Given the description of an element on the screen output the (x, y) to click on. 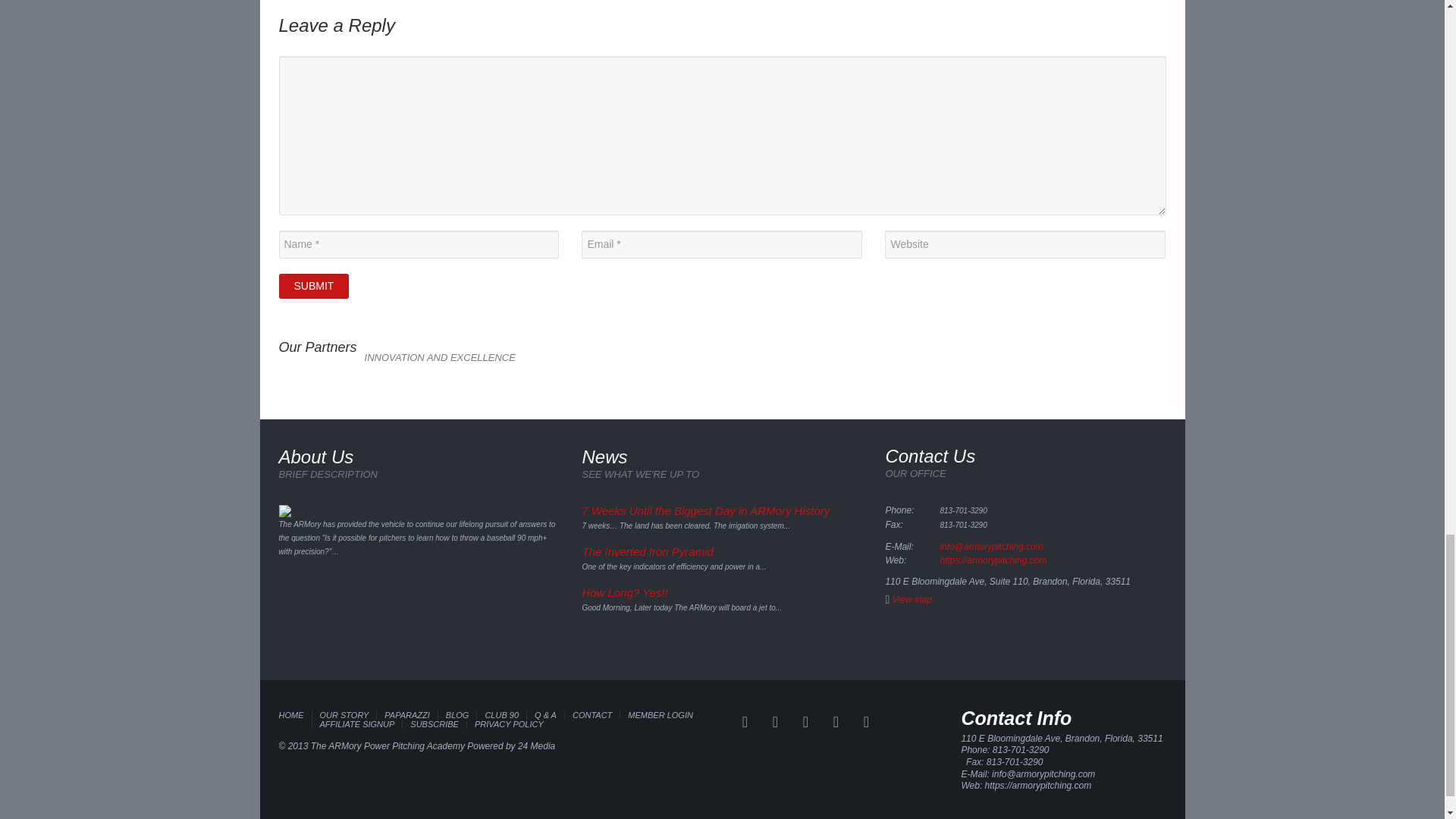
SUBMIT (314, 285)
The Inverted Iron Pyramid (646, 551)
7 Weeks Until the Biggest Day in ARMory History (704, 510)
How Long? Yes!! (623, 592)
